Given the description of an element on the screen output the (x, y) to click on. 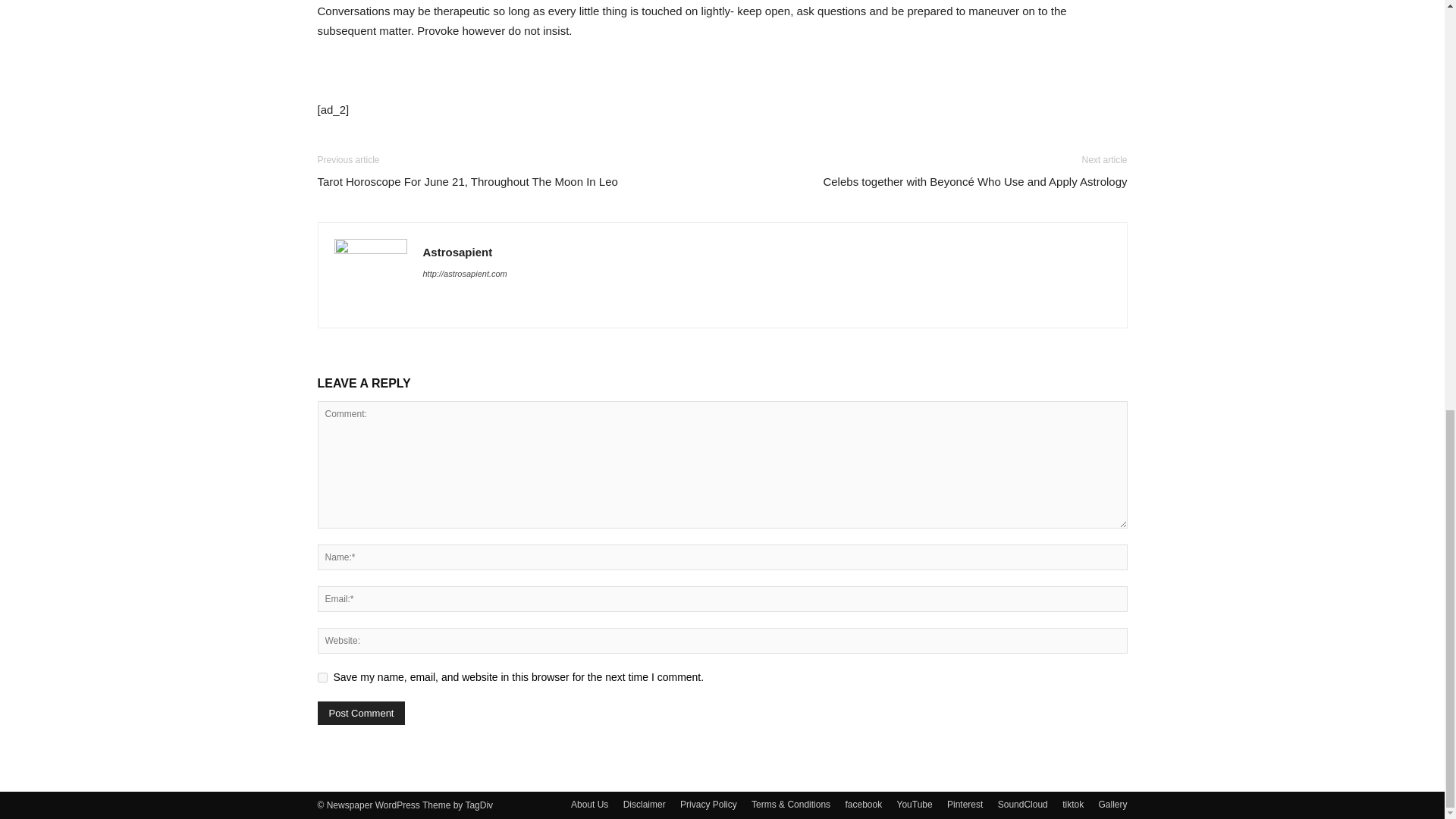
About Us (589, 804)
Post Comment (360, 712)
Tarot Horoscope For June 21, Throughout The Moon In Leo (467, 181)
Pinterest (964, 804)
Post Comment (360, 712)
Disclaimer (644, 804)
Gallery (1111, 804)
tiktok (1072, 804)
Astrosapient (458, 251)
YouTube (914, 804)
Privacy Policy (707, 804)
facebook (863, 804)
SoundCloud (1022, 804)
yes (321, 677)
